Given the description of an element on the screen output the (x, y) to click on. 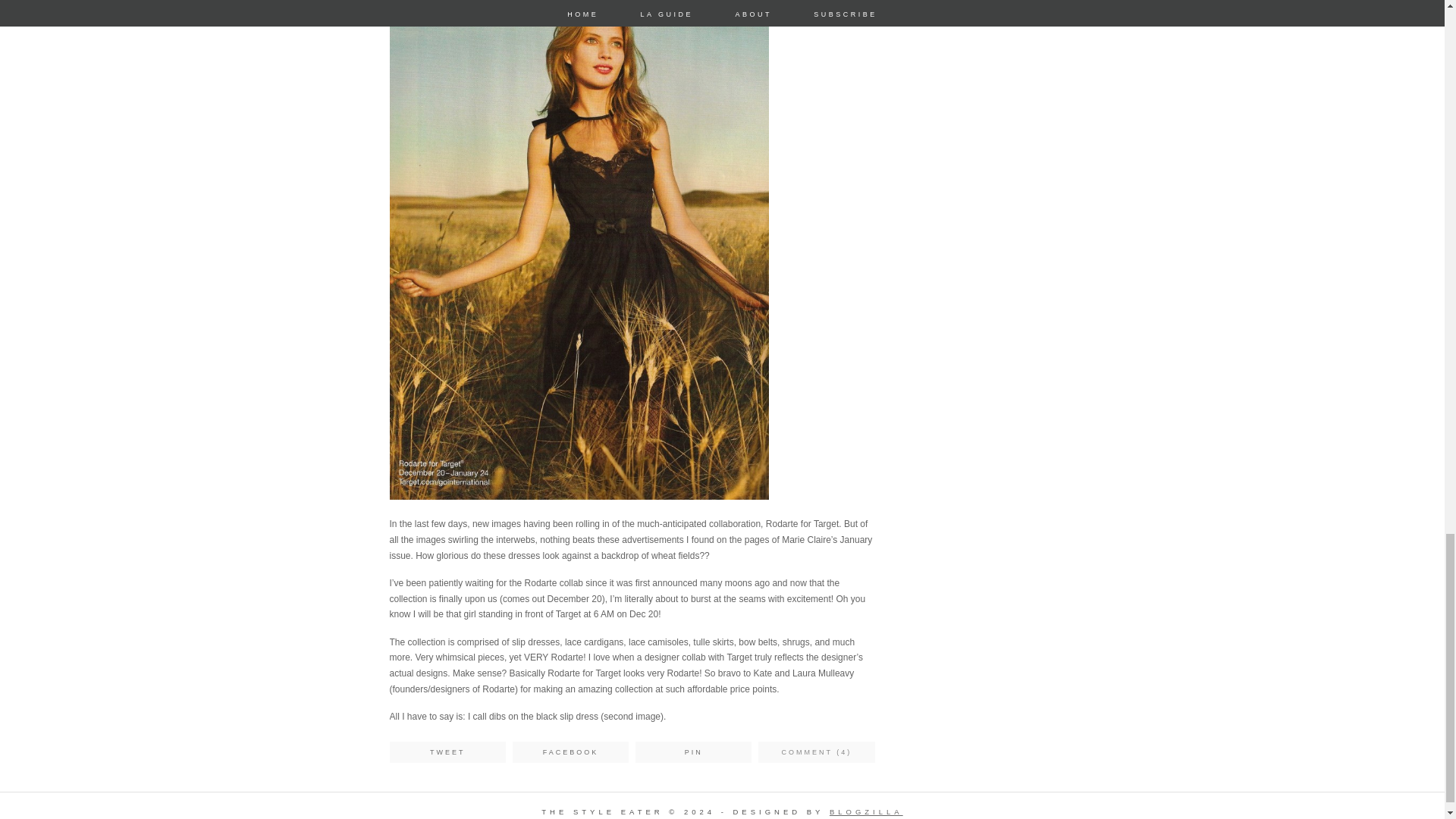
TWEET (446, 751)
mignon (865, 811)
PIN (693, 751)
FACEBOOK (570, 751)
